Given the description of an element on the screen output the (x, y) to click on. 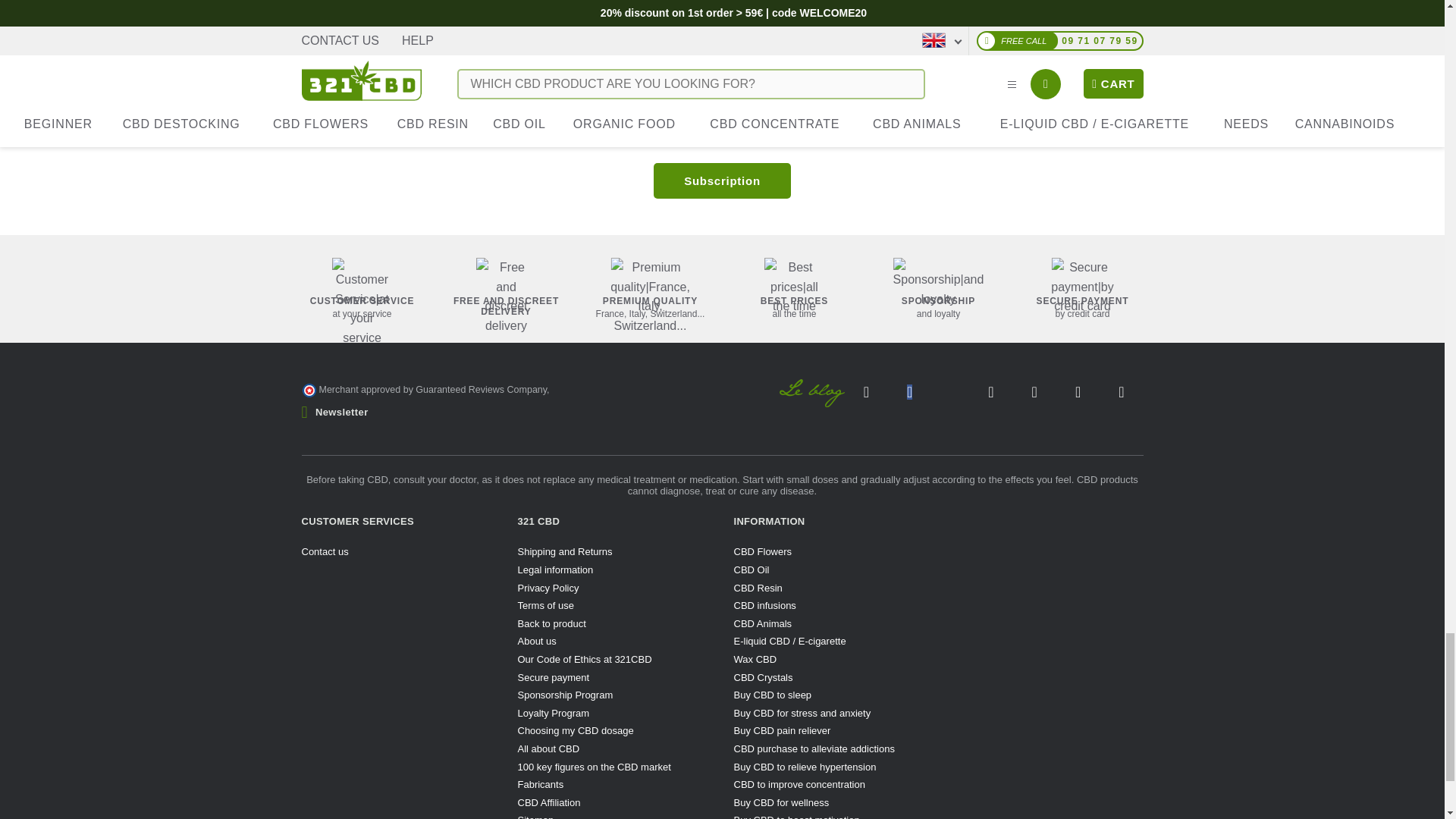
Le blog (811, 393)
Newsletter (721, 180)
Newsletter	 (334, 411)
